Given the description of an element on the screen output the (x, y) to click on. 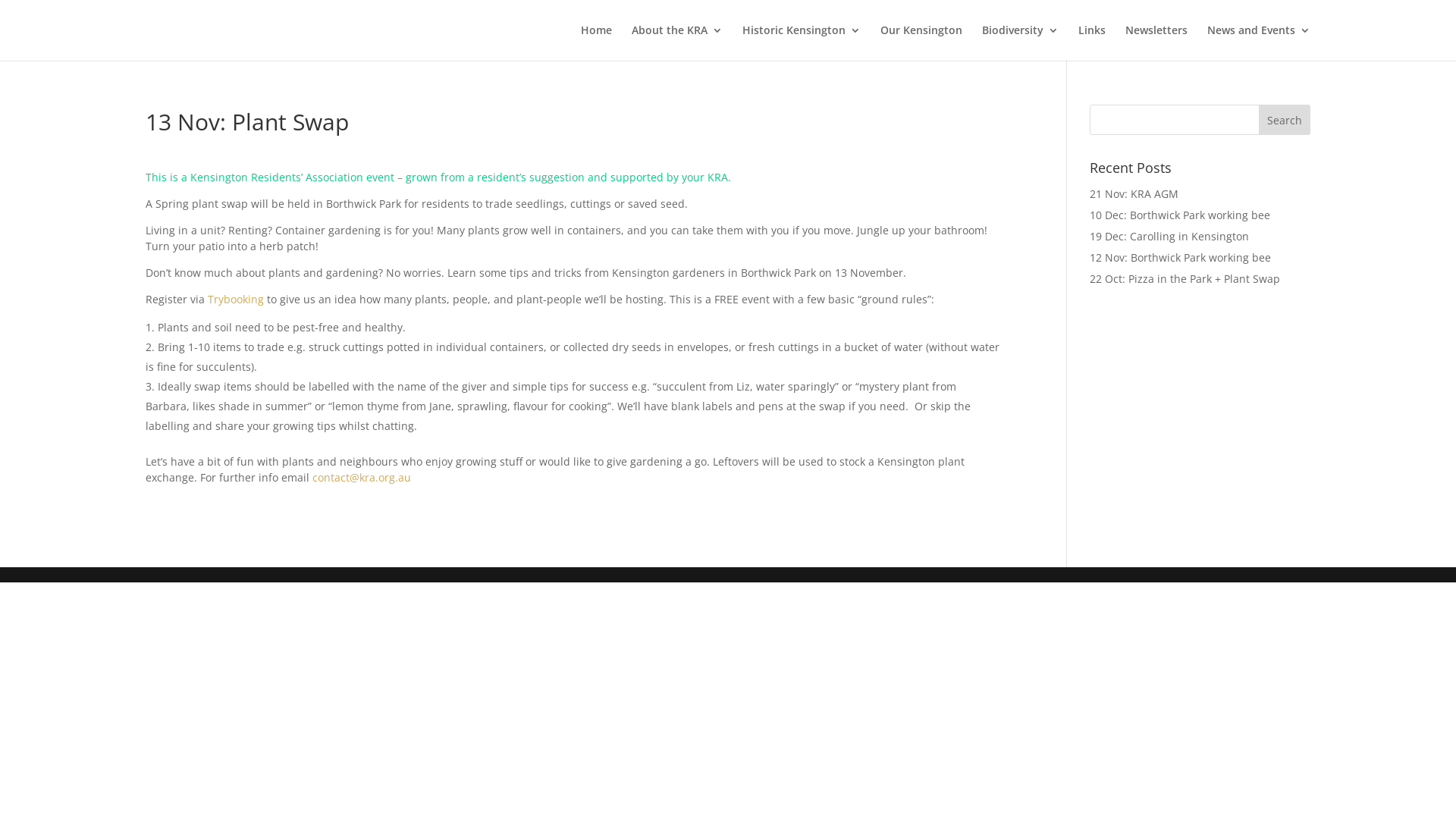
Home Element type: text (595, 42)
Links Element type: text (1091, 42)
Trybooking Element type: text (235, 298)
contact@kra.org.au Element type: text (361, 477)
News and Events Element type: text (1258, 42)
19 Dec: Carolling in Kensington Element type: text (1168, 236)
Search Element type: text (1284, 119)
12 Nov: Borthwick Park working bee Element type: text (1179, 257)
21 Nov: KRA AGM Element type: text (1133, 193)
Our Kensington Element type: text (921, 42)
22 Oct: Pizza in the Park + Plant Swap Element type: text (1184, 278)
About the KRA Element type: text (676, 42)
Historic Kensington Element type: text (801, 42)
10 Dec: Borthwick Park working bee Element type: text (1179, 214)
Biodiversity Element type: text (1020, 42)
Newsletters Element type: text (1156, 42)
